Given the description of an element on the screen output the (x, y) to click on. 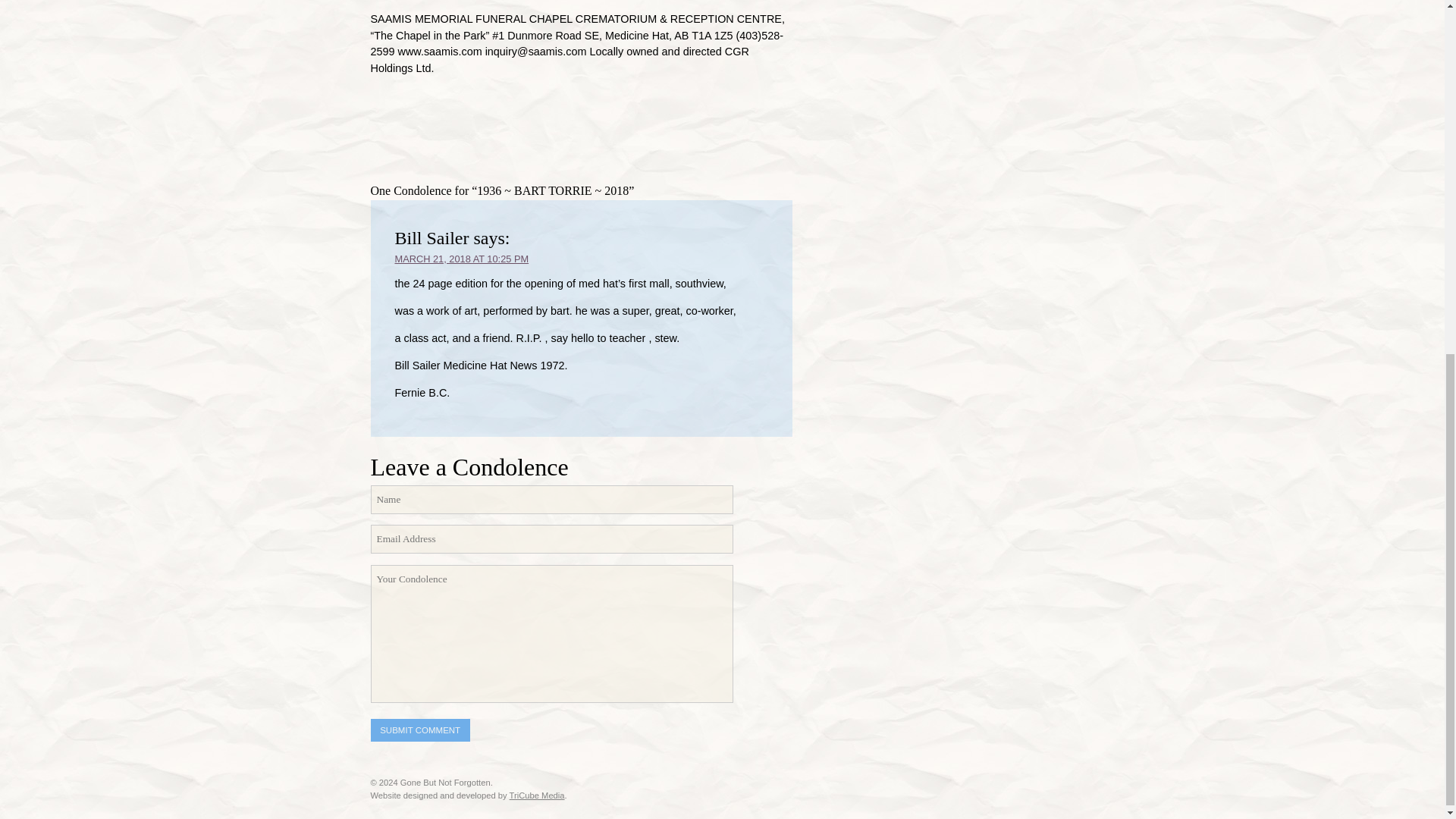
TriCube Media (536, 795)
3rd party ad content (959, 5)
3rd party ad content (959, 117)
MARCH 21, 2018 AT 10:25 PM (461, 258)
Submit Comment (418, 730)
3rd party ad content (547, 135)
Submit Comment (418, 730)
